Given the description of an element on the screen output the (x, y) to click on. 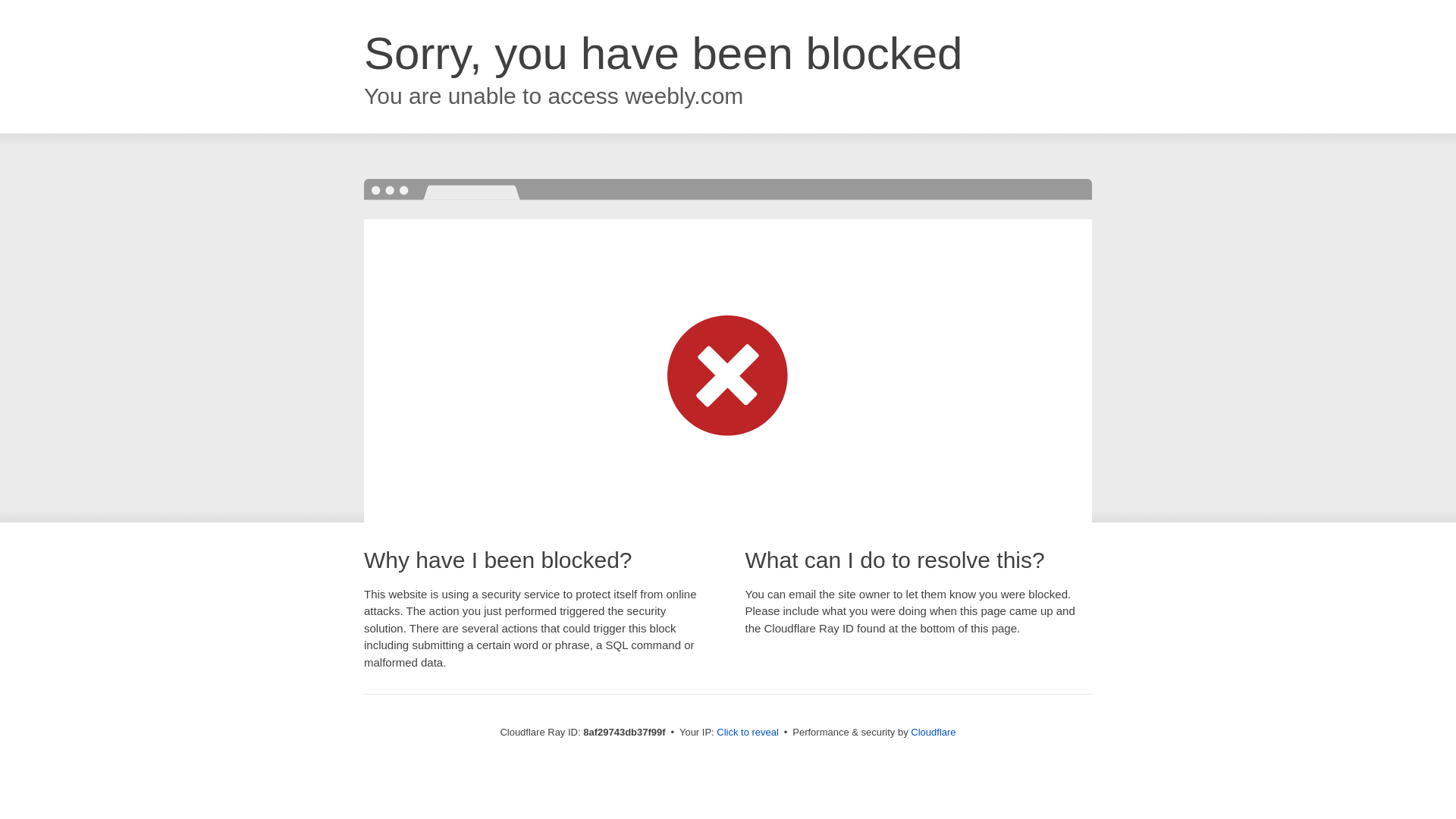
Cloudflare (933, 731)
Click to reveal (747, 732)
